Given the description of an element on the screen output the (x, y) to click on. 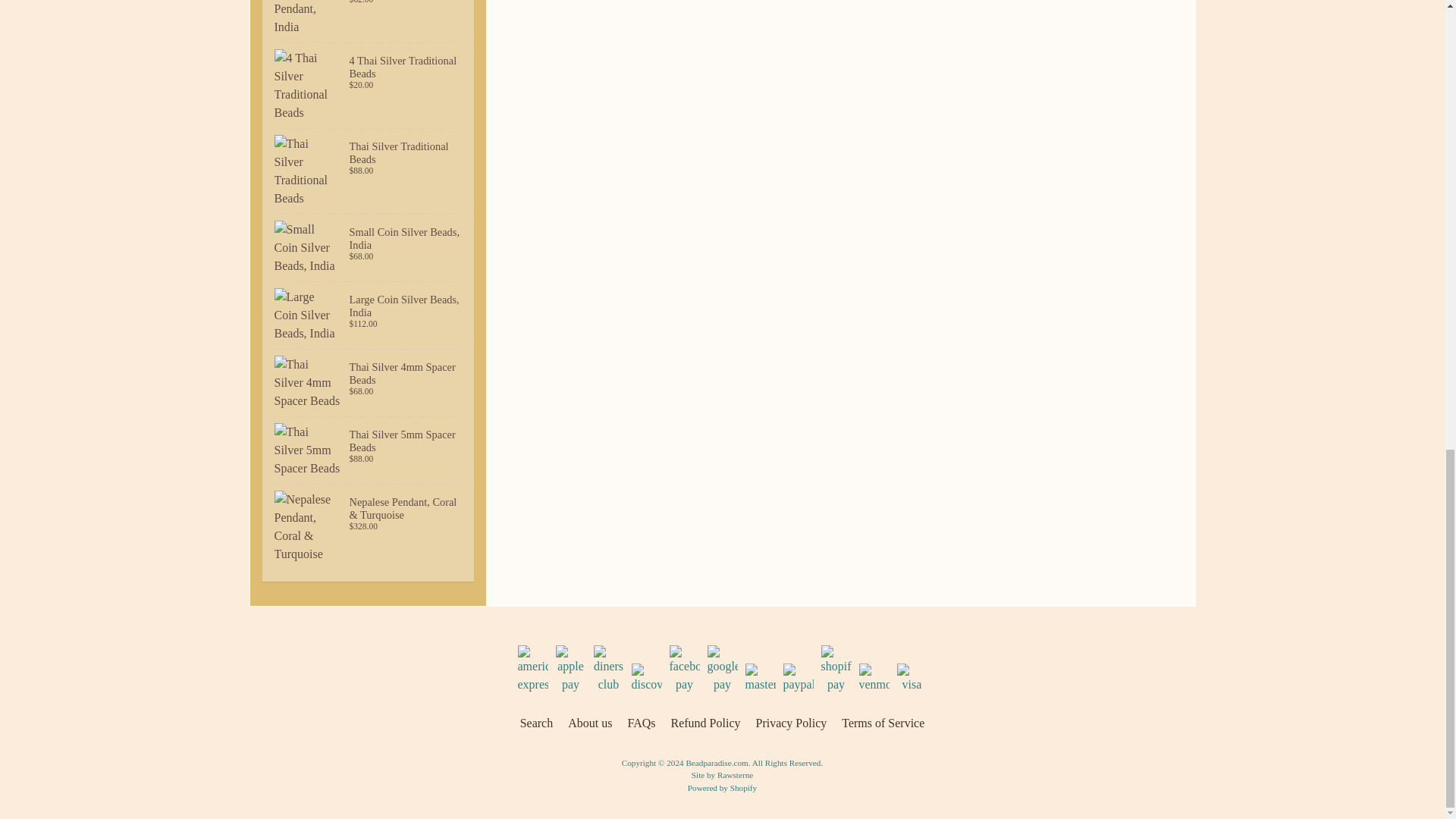
Thai Silver Traditional  Beads (369, 170)
Antique Silver Floral Pendant, India (369, 21)
Small Coin Silver Beads, India (369, 246)
Thai Silver 5mm Spacer Beads (369, 450)
4 Thai Silver Traditional  Beads (369, 84)
Thai Silver 4mm Spacer Beads (369, 381)
Large Coin Silver Beads, India (369, 314)
